Given the description of an element on the screen output the (x, y) to click on. 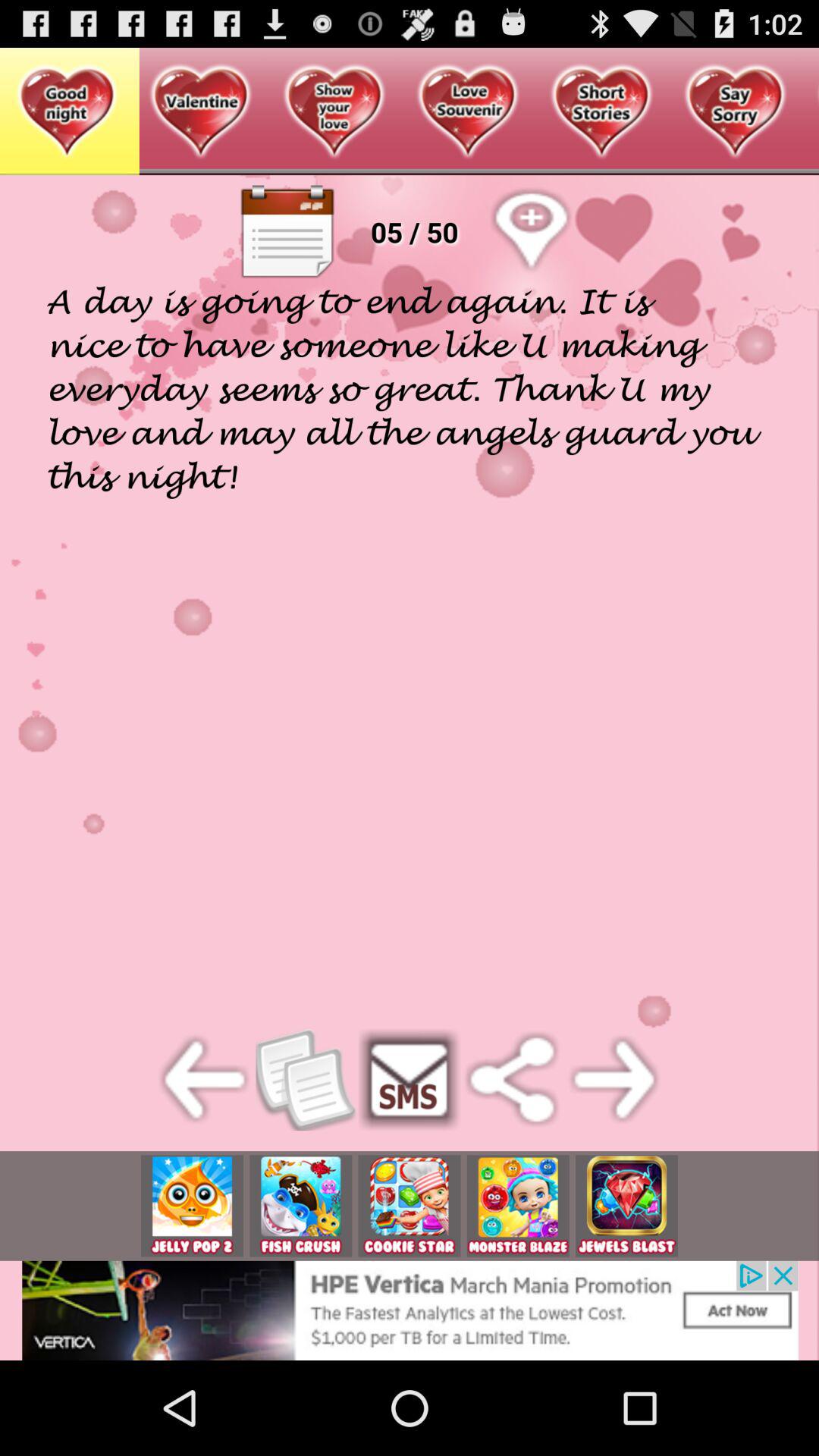
advertisement banner (409, 1205)
